Given the description of an element on the screen output the (x, y) to click on. 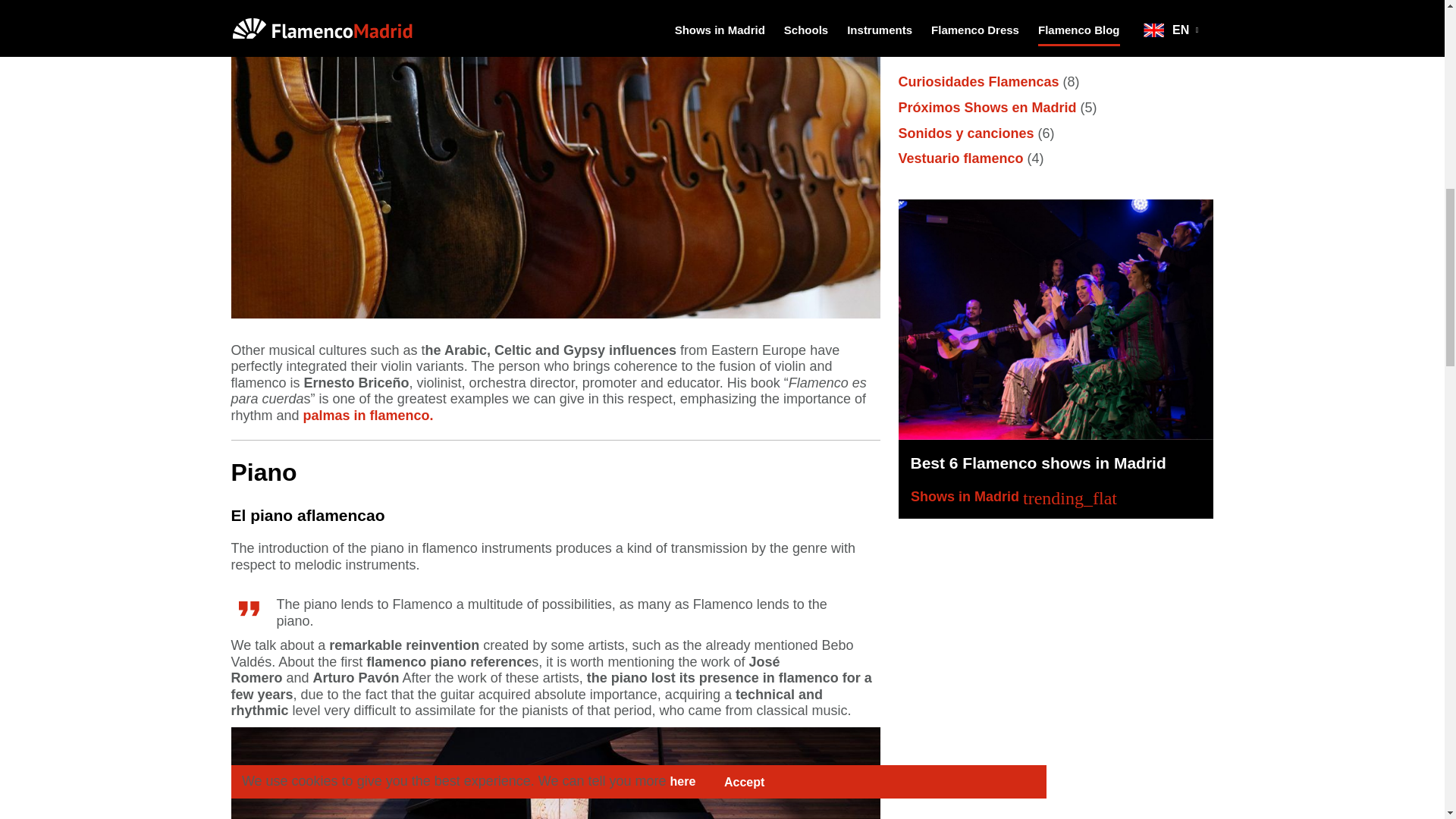
el-piano-en-el-flamenco-2 (554, 773)
palmas in flamenco. (367, 415)
